Given the description of an element on the screen output the (x, y) to click on. 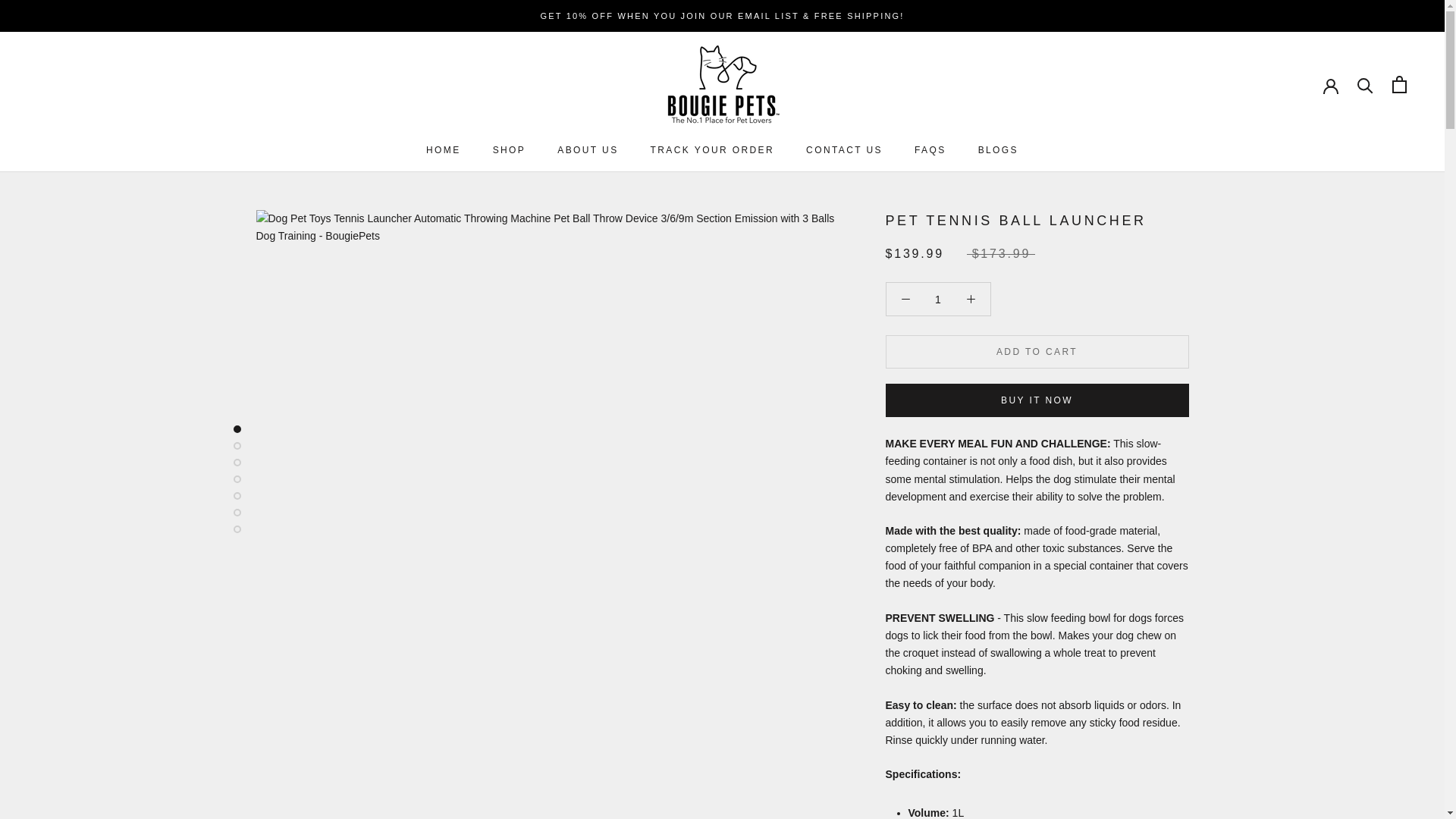
1 (997, 149)
SHOP (938, 299)
